Given the description of an element on the screen output the (x, y) to click on. 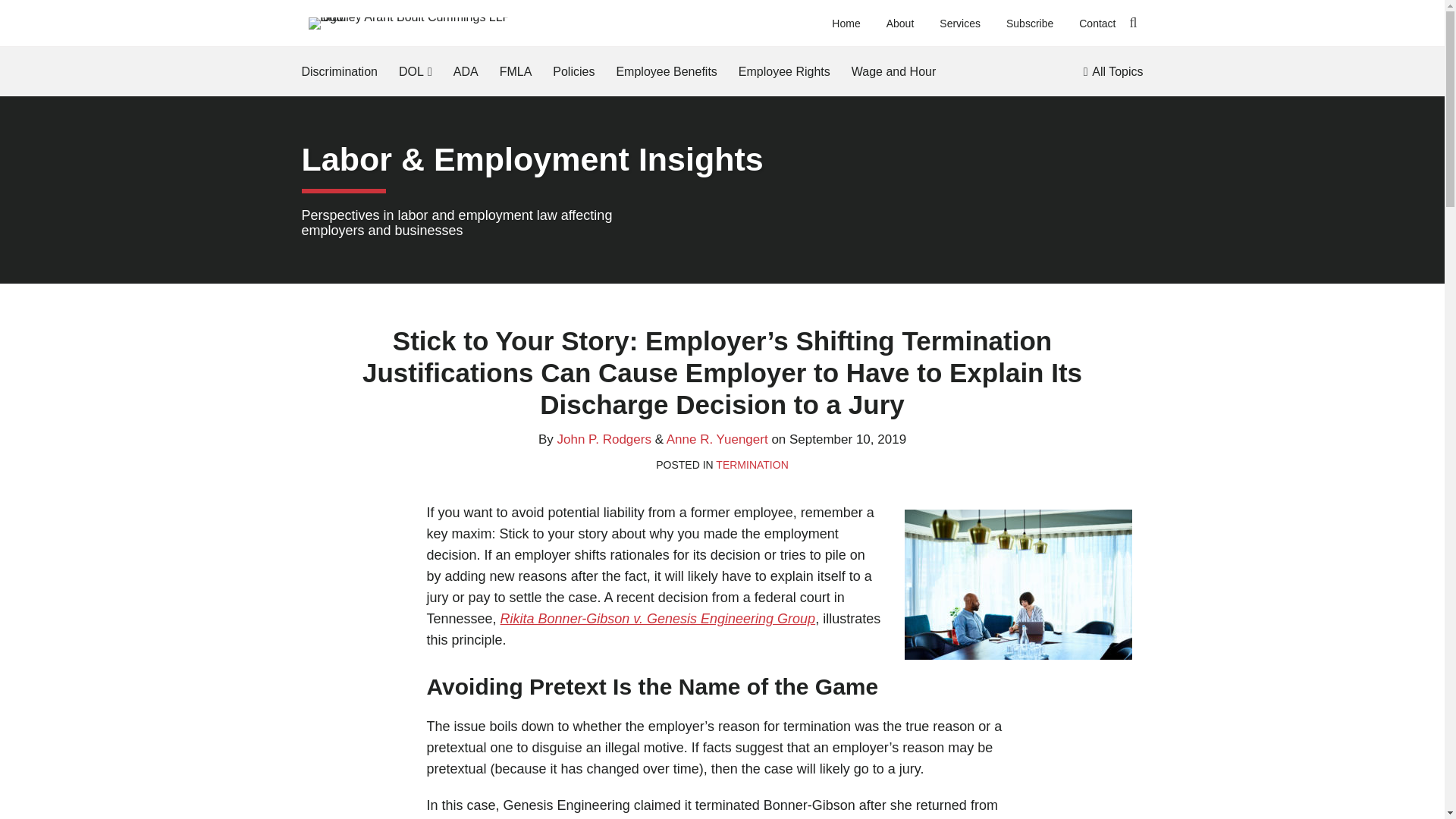
Home (845, 23)
Contact (1096, 23)
Wage and Hour (893, 72)
About (900, 23)
John P. Rodgers (603, 439)
Employee Benefits (665, 72)
Employee Rights (783, 72)
ADA (465, 72)
Subscribe (1029, 23)
All Topics (1112, 72)
FMLA (515, 72)
Policies (573, 72)
Discrimination (339, 72)
DOL (410, 72)
Services (959, 23)
